Given the description of an element on the screen output the (x, y) to click on. 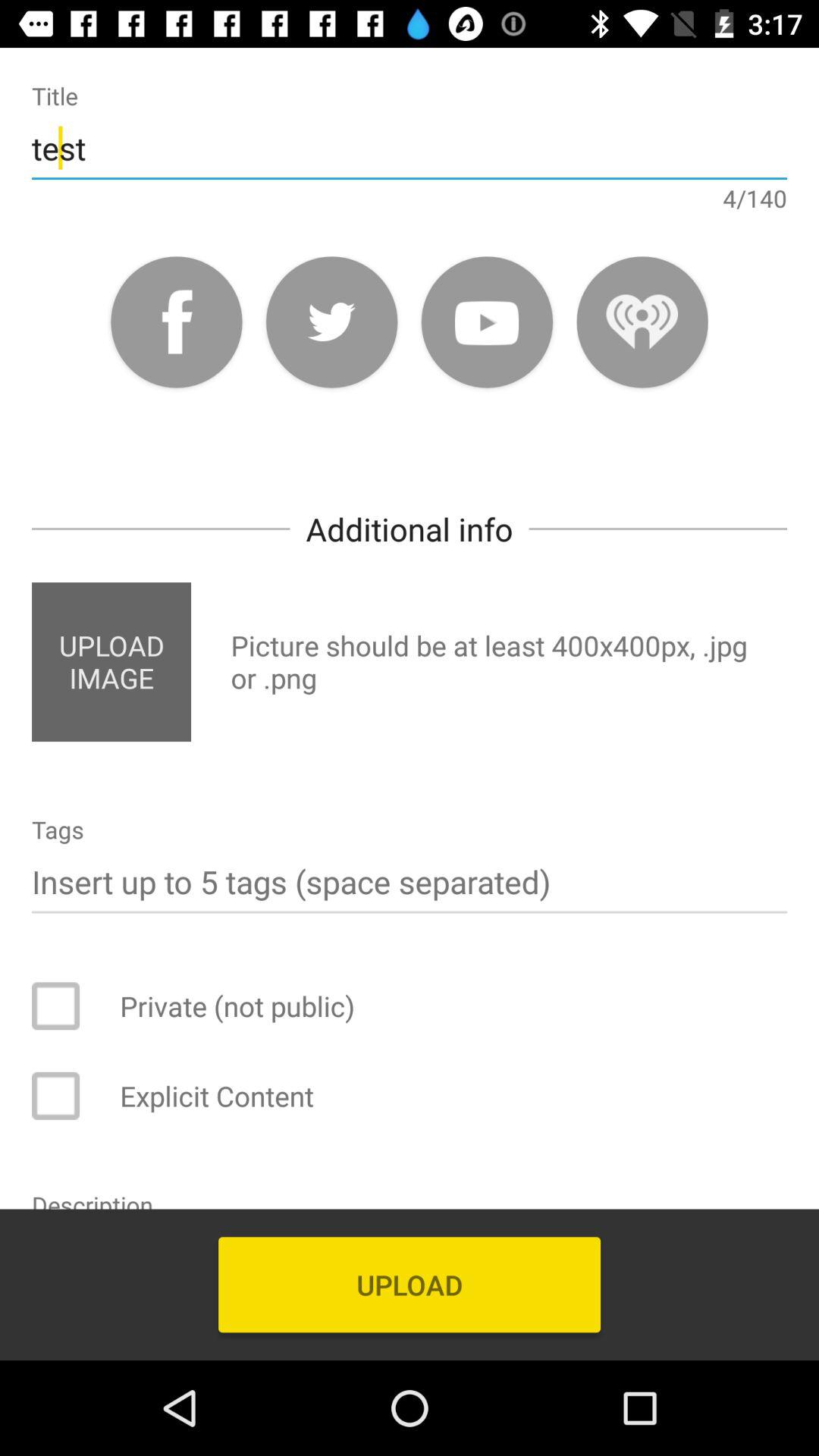
turn on the test icon (409, 147)
